Given the description of an element on the screen output the (x, y) to click on. 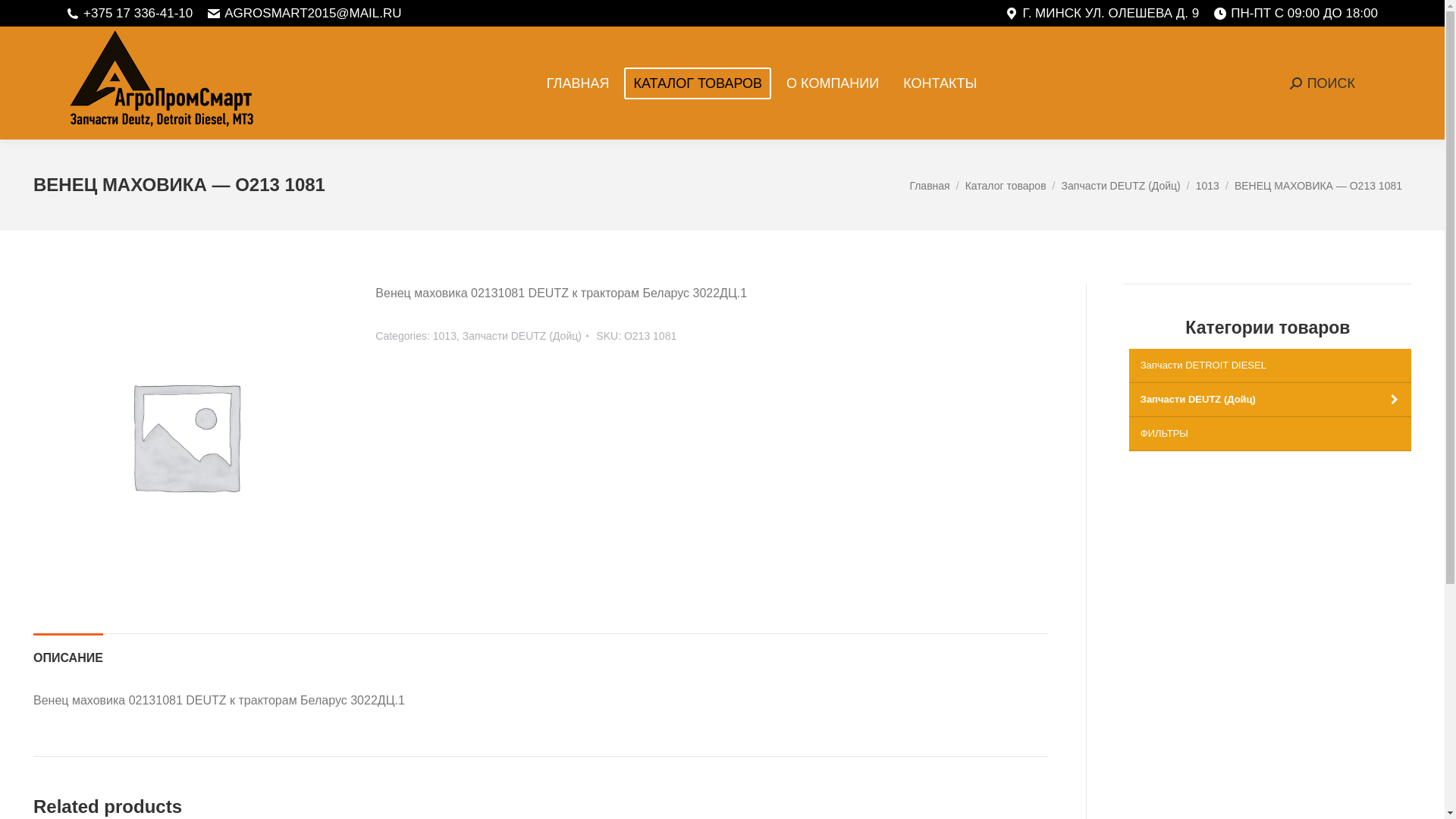
1013 Element type: text (1207, 184)
1013 Element type: text (444, 335)
